Given the description of an element on the screen output the (x, y) to click on. 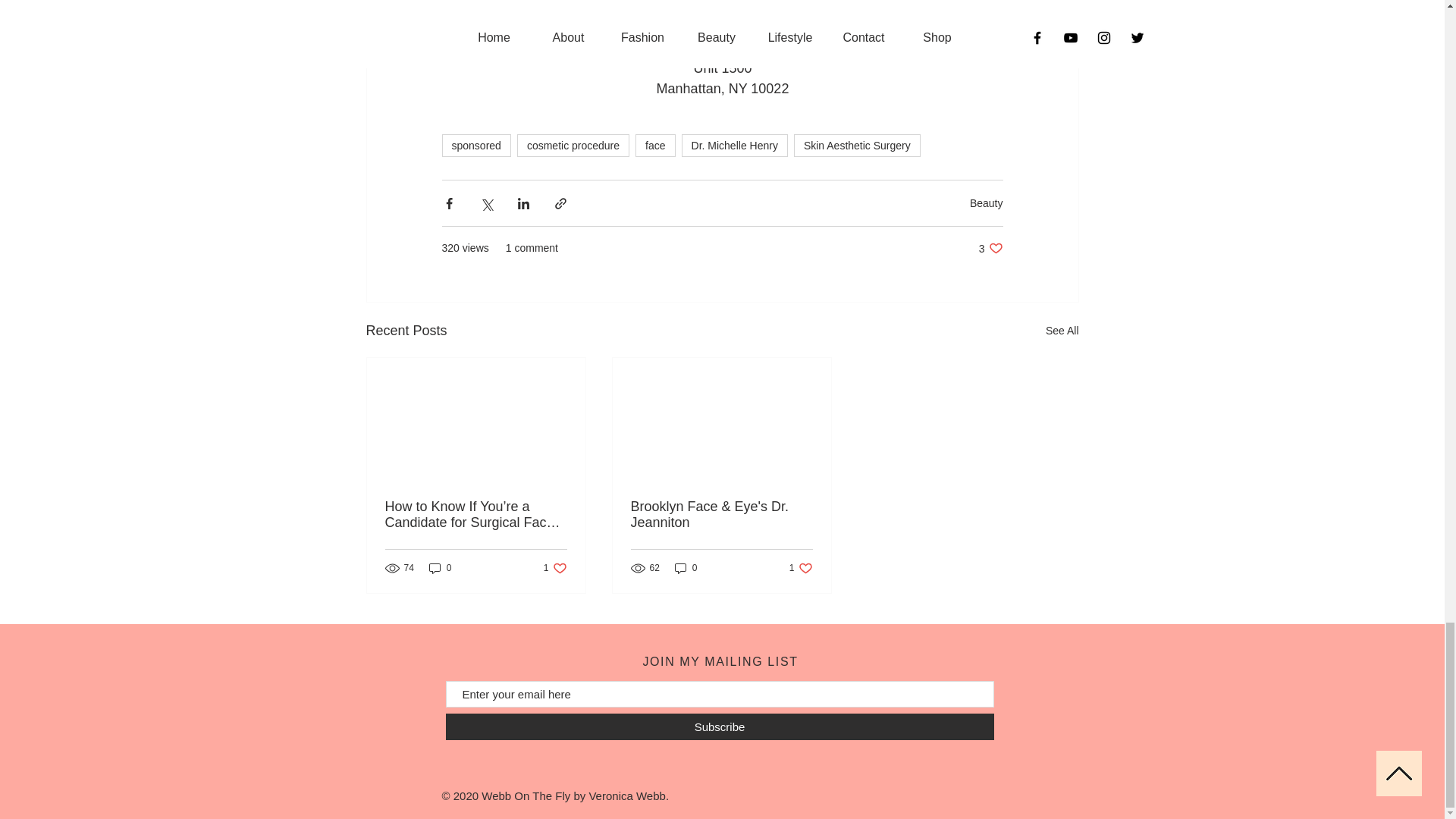
0 (685, 568)
cosmetic procedure (572, 145)
sponsored (800, 568)
Subscribe (555, 568)
face (476, 145)
Skin Aesthetic Surgery (719, 726)
Dr. Michelle Henry (654, 145)
Beauty (856, 145)
See All (734, 145)
0 (986, 203)
